Given the description of an element on the screen output the (x, y) to click on. 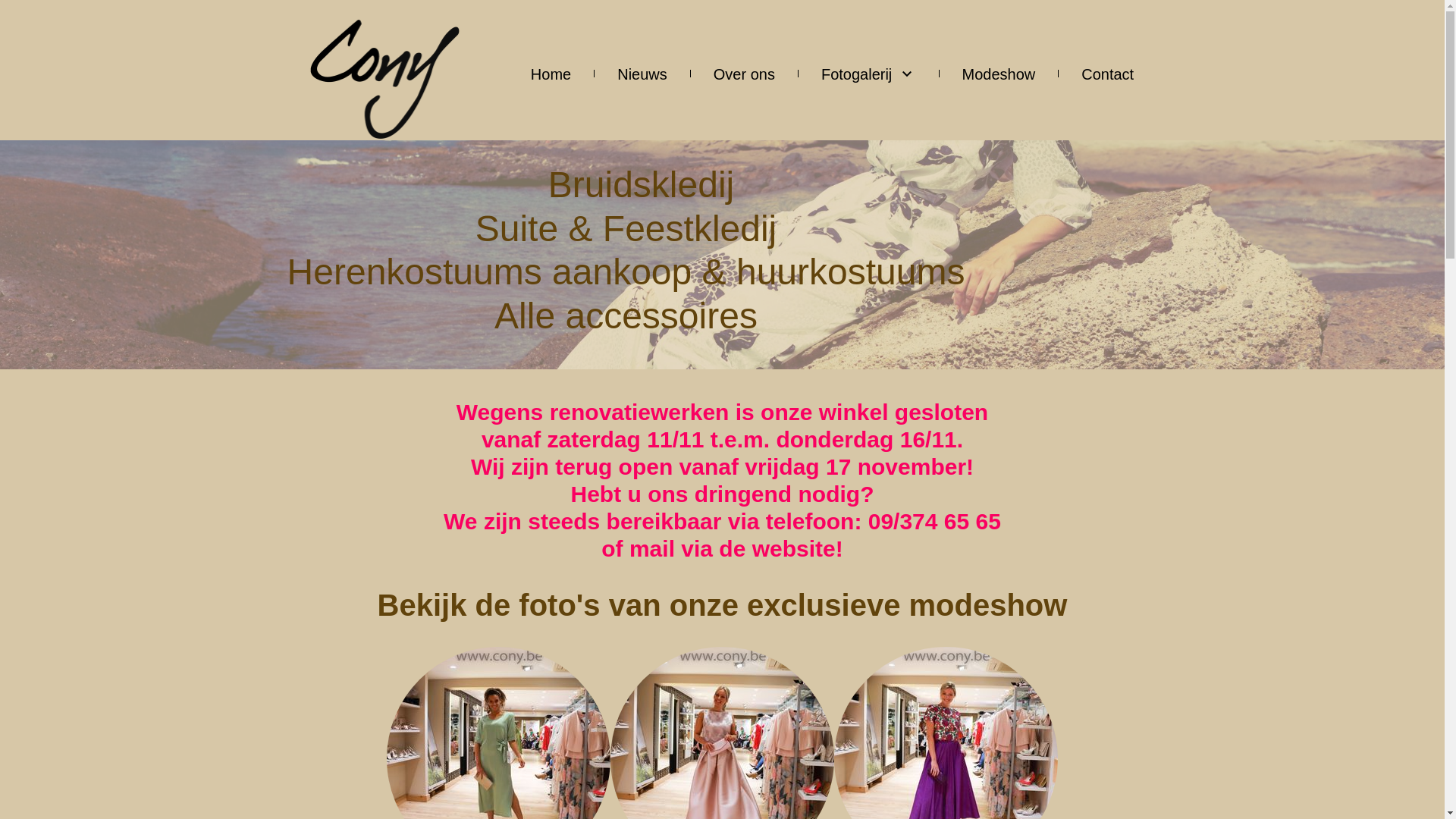
Fotogalerij Element type: text (868, 72)
Over ons Element type: text (743, 72)
Modeshow Element type: text (997, 72)
Contact Element type: text (1107, 72)
Nieuws Element type: text (642, 72)
Home Element type: text (550, 72)
